Given the description of an element on the screen output the (x, y) to click on. 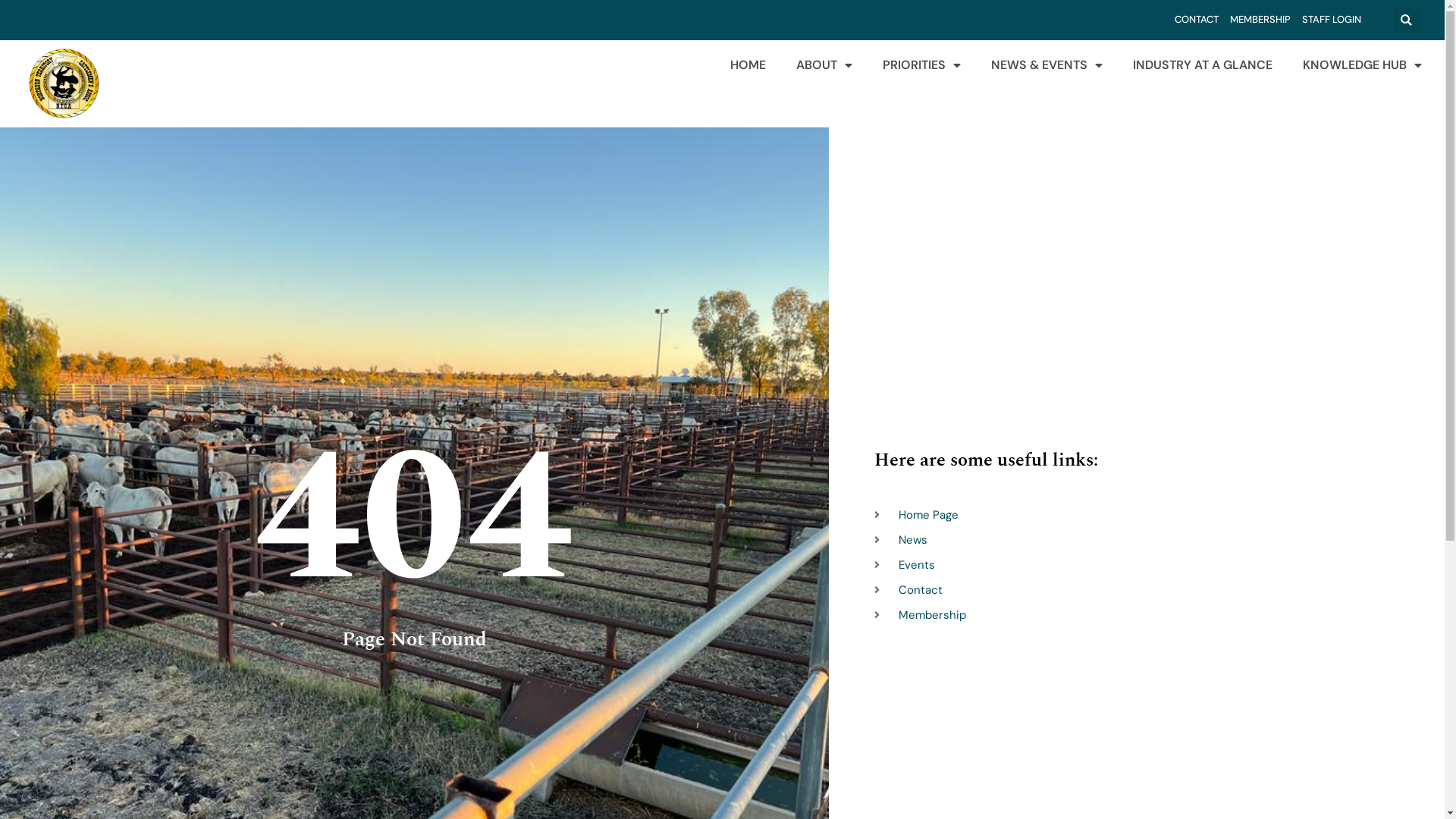
PRIORITIES Element type: text (921, 64)
Membership Element type: text (1147, 615)
NEWS & EVENTS Element type: text (1046, 64)
MEMBERSHIP Element type: text (1260, 19)
Contact Element type: text (1147, 590)
ABOUT Element type: text (824, 64)
CONTACT Element type: text (1196, 19)
INDUSTRY AT A GLANCE Element type: text (1202, 64)
HOME Element type: text (748, 64)
Events Element type: text (1147, 565)
KNOWLEDGE HUB Element type: text (1362, 64)
News Element type: text (1147, 540)
Home Page Element type: text (1147, 515)
